Given the description of an element on the screen output the (x, y) to click on. 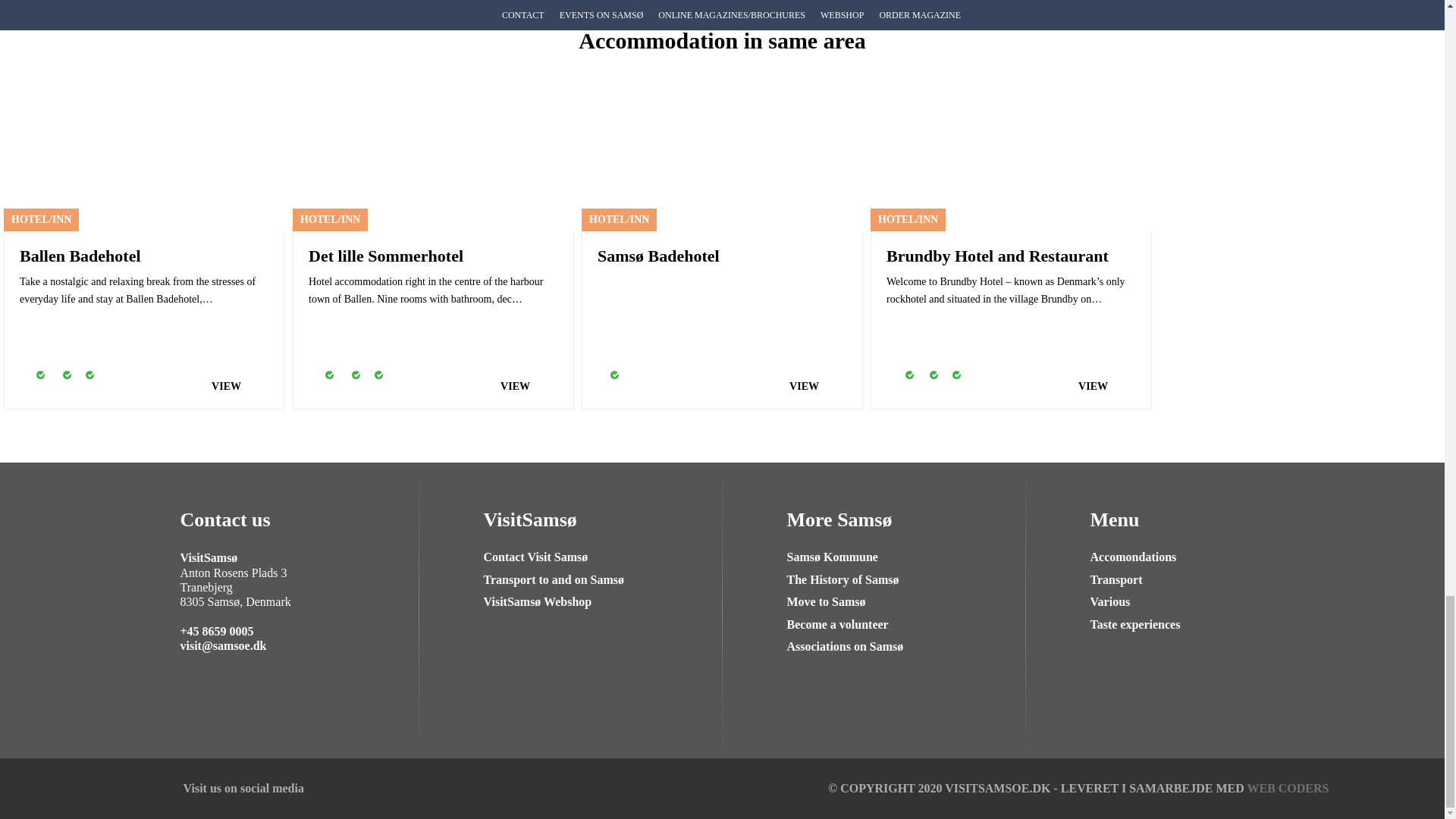
Dog allowed (895, 383)
Open now (605, 383)
WIFI (317, 383)
Breakfast included (343, 383)
WIFI (29, 383)
Breakfast included (55, 383)
Breakfast included (921, 383)
Open now (370, 383)
Open now (81, 383)
